Given the description of an element on the screen output the (x, y) to click on. 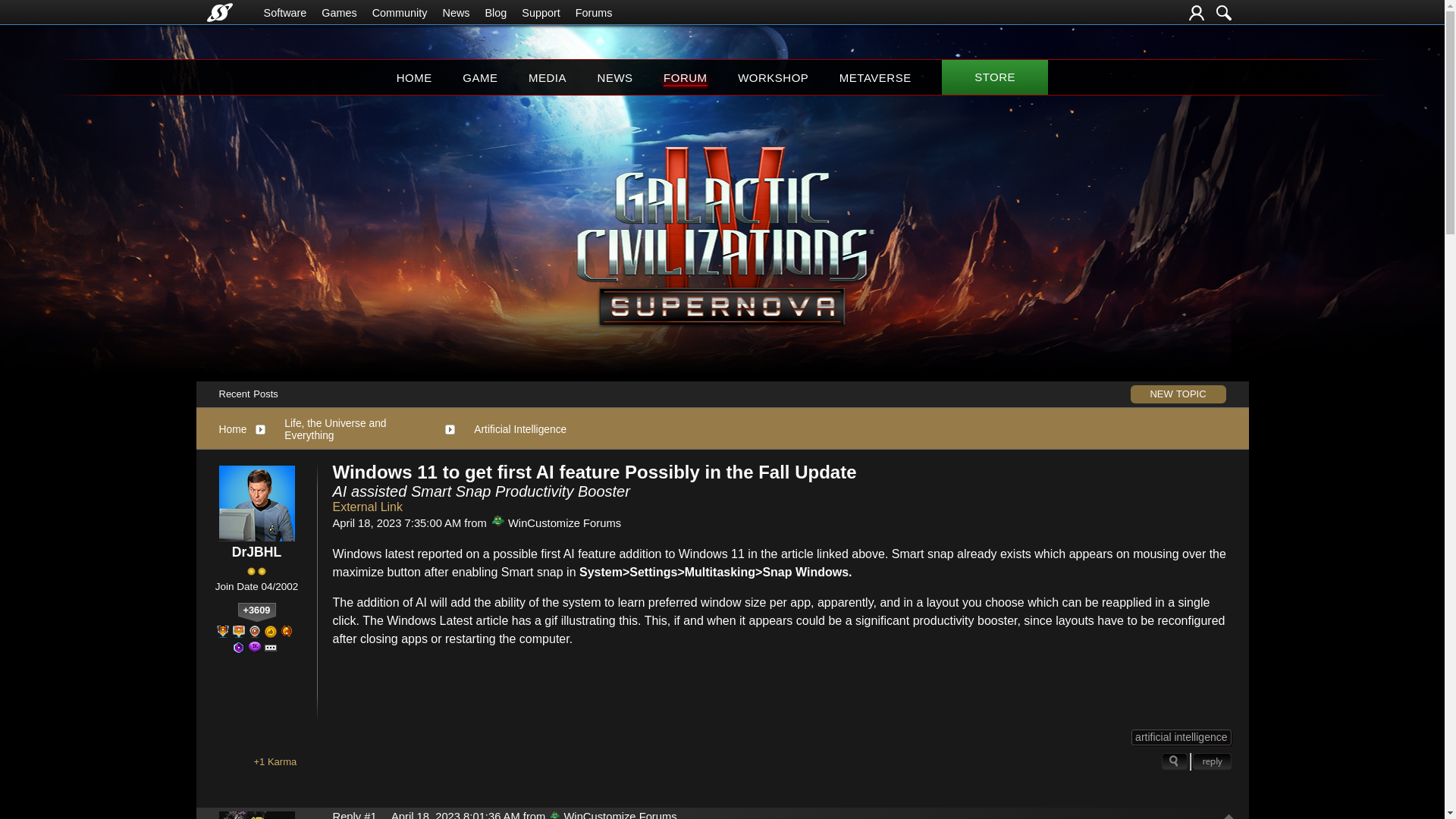
Software (285, 12)
Forums (593, 12)
Master Motivator - Gave 1000 Karma (286, 631)
Community (400, 12)
Precious - Received 1,000 Total Karma (270, 631)
Games (338, 12)
Support (540, 12)
